Given the description of an element on the screen output the (x, y) to click on. 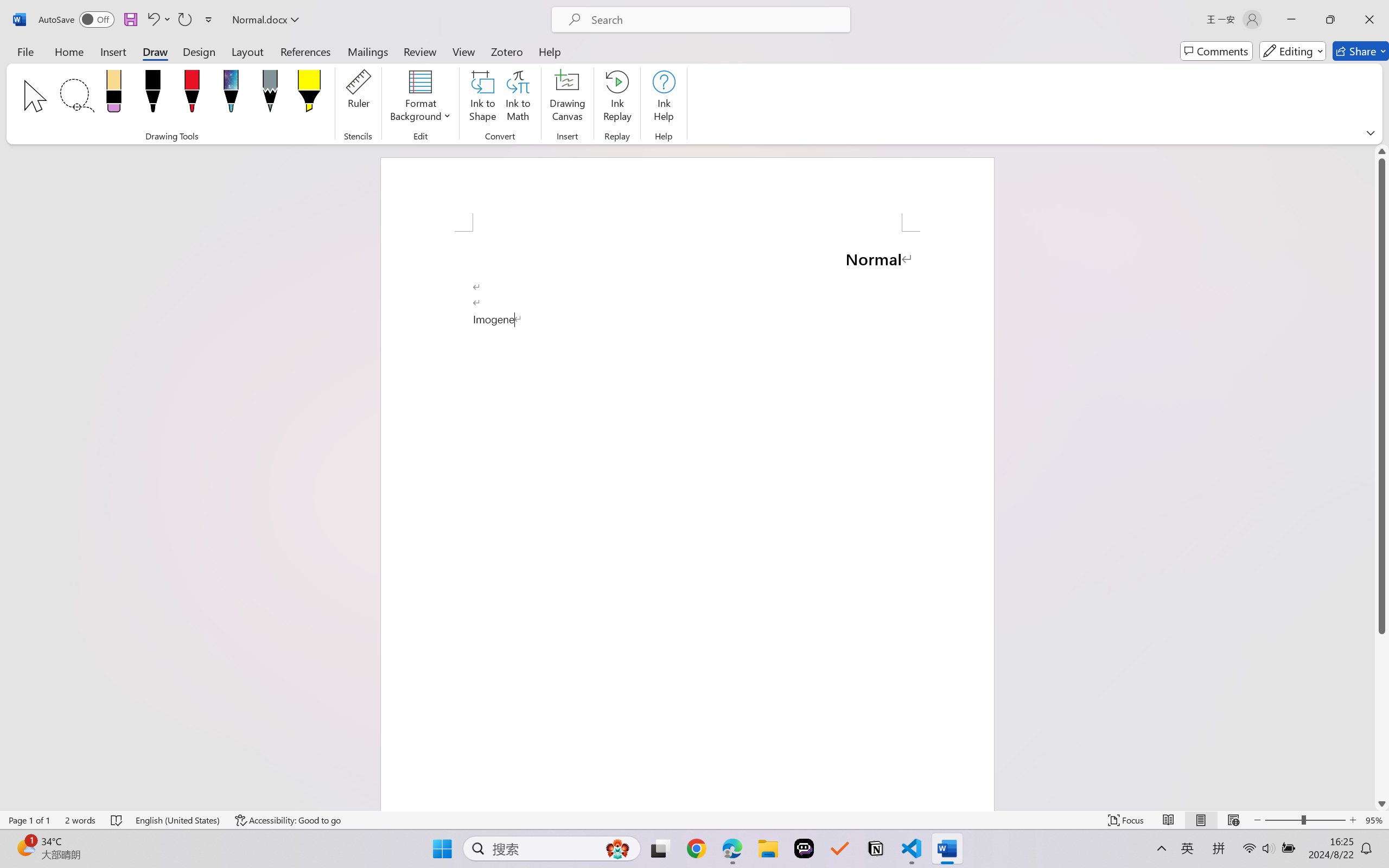
Class: NetUIScrollBar (1382, 477)
Page down (1382, 715)
Pen: Red, 0.5 mm (191, 94)
Word Count 2 words (80, 819)
Pencil: Gray, 1 mm (270, 94)
Microsoft search (715, 19)
Repeat Paragraph Formatting (184, 19)
